Given the description of an element on the screen output the (x, y) to click on. 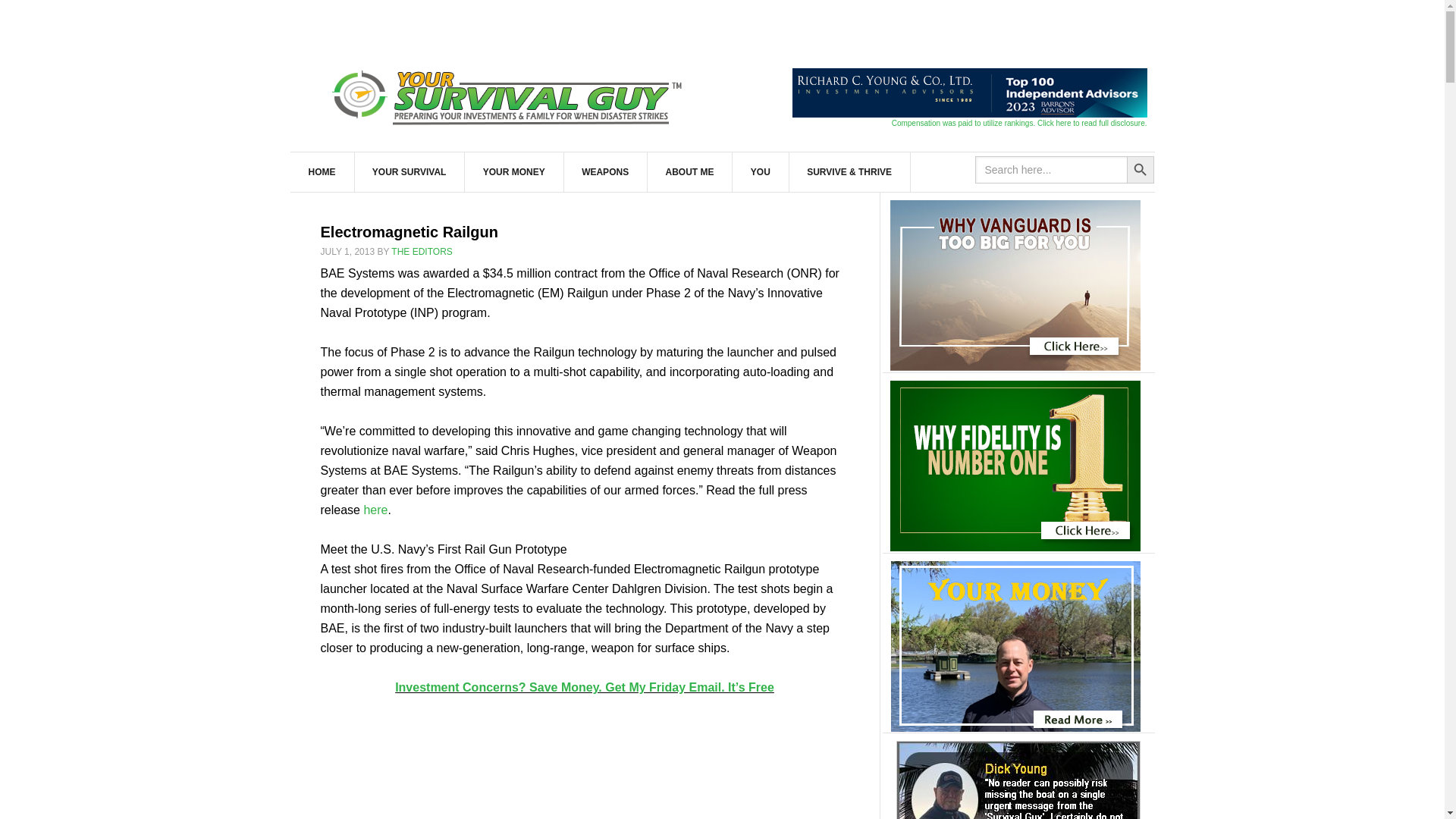
Money 101 (1014, 646)
YOUR SURVIVAL (409, 171)
Vanguard Update May 2020 (1014, 285)
WEAPONS (605, 171)
YOUR SURVIVAL GUY (509, 94)
YOUR MONEY (514, 171)
Why Fidelity is Number One (1014, 465)
HOME (321, 171)
